Given the description of an element on the screen output the (x, y) to click on. 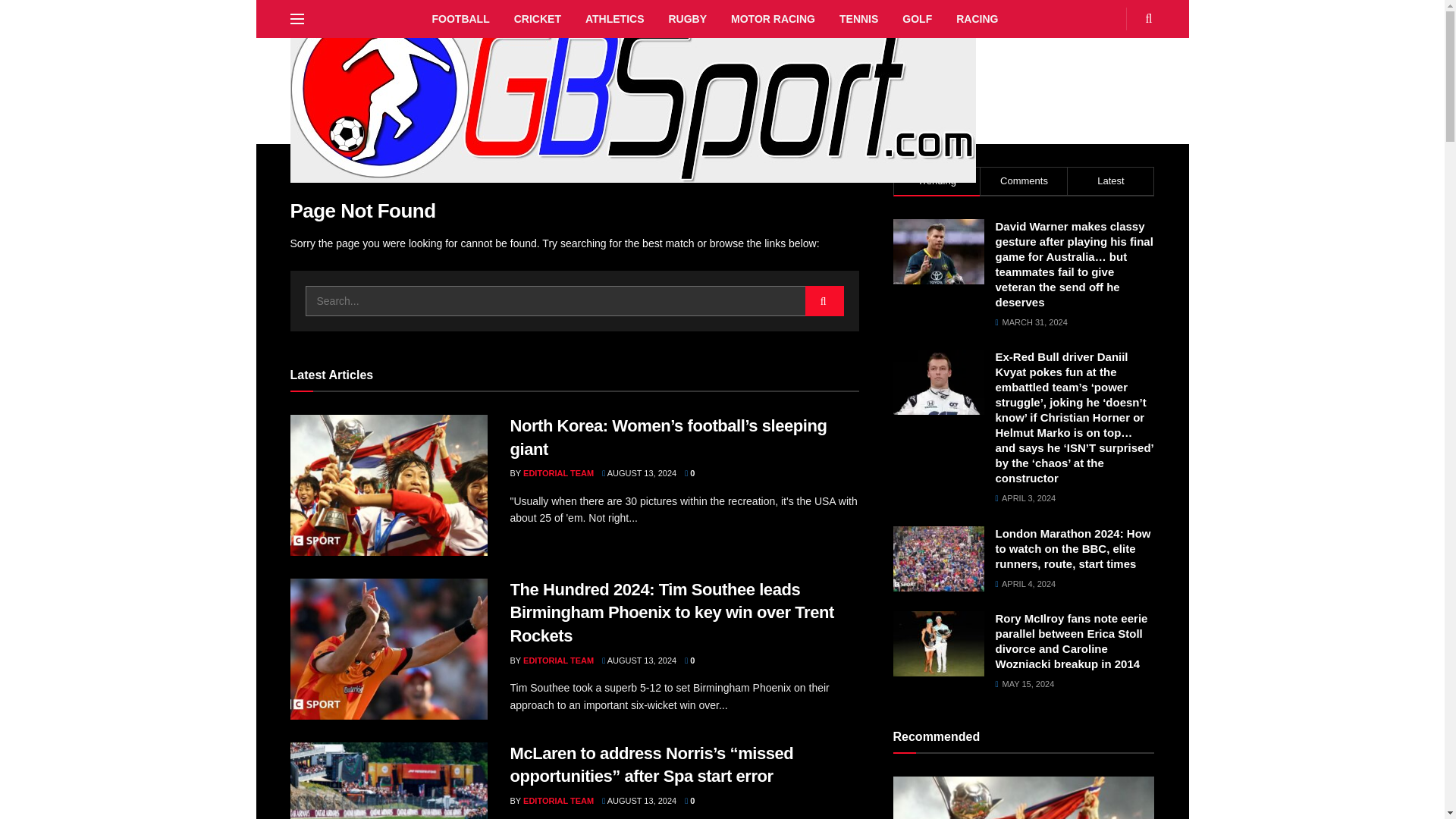
EDITORIAL TEAM (558, 660)
Page Not Found (360, 174)
AUGUST 13, 2024 (639, 472)
RUGBY (687, 18)
RACING (976, 18)
0 (689, 472)
0 (689, 660)
AUGUST 13, 2024 (639, 660)
FOOTBALL (461, 18)
MOTOR RACING (773, 18)
